Given the description of an element on the screen output the (x, y) to click on. 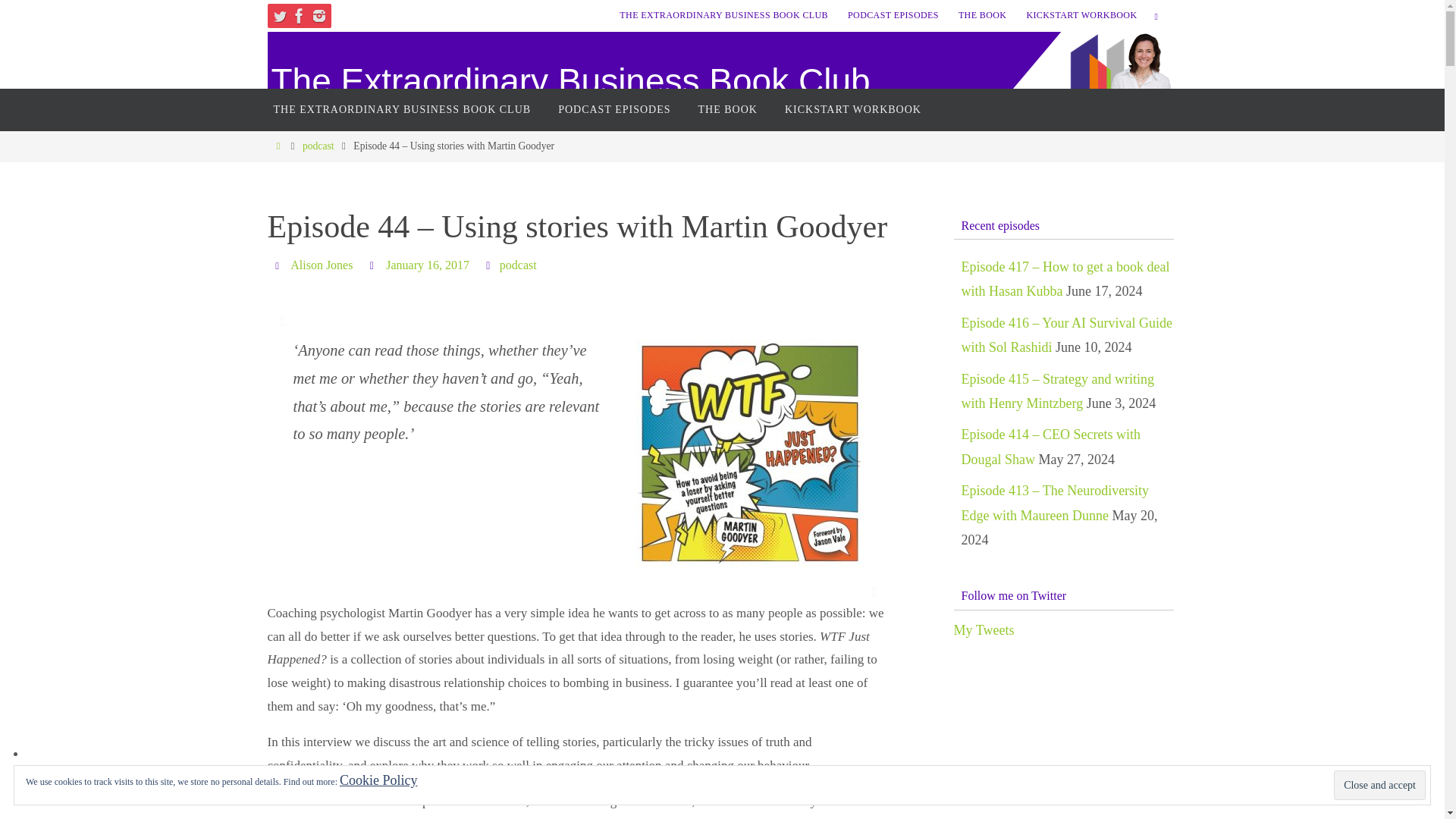
PODCAST EPISODES (893, 14)
THE BOOK (982, 14)
The Extraordinary Business Book Club (570, 81)
The Extraordinary Business Book Club (570, 81)
KICKSTART WORKBOOK (1080, 14)
podcast (518, 264)
PODCAST EPISODES (614, 109)
Twitter (278, 15)
Close and accept (1379, 785)
THE BOOK (727, 109)
THE EXTRAORDINARY BUSINESS BOOK CLUB (723, 14)
podcast (318, 145)
Facebook (298, 15)
Categories (489, 264)
THE EXTRAORDINARY BUSINESS BOOK CLUB (401, 109)
